Given the description of an element on the screen output the (x, y) to click on. 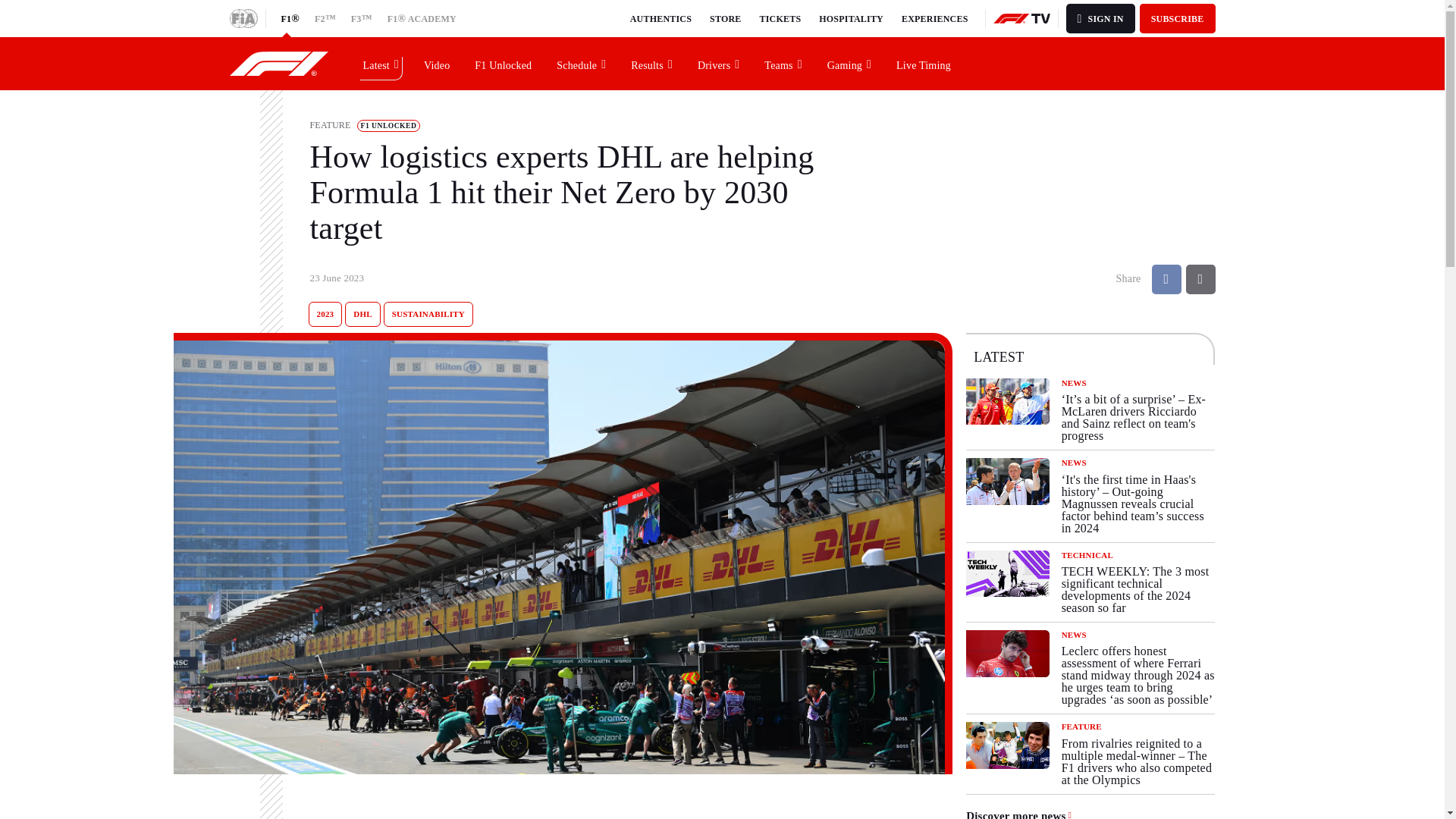
Results (651, 63)
SUSTAINABILITY (428, 314)
Schedule (581, 63)
Drivers (718, 63)
Teams (782, 63)
SIGN IN (1100, 18)
DHL (362, 314)
EXPERIENCES (934, 18)
Discover more news (1018, 814)
TICKETS (781, 18)
Gaming (849, 63)
SUBSCRIBE (1177, 18)
Live Timing (923, 63)
Video (437, 63)
